Given the description of an element on the screen output the (x, y) to click on. 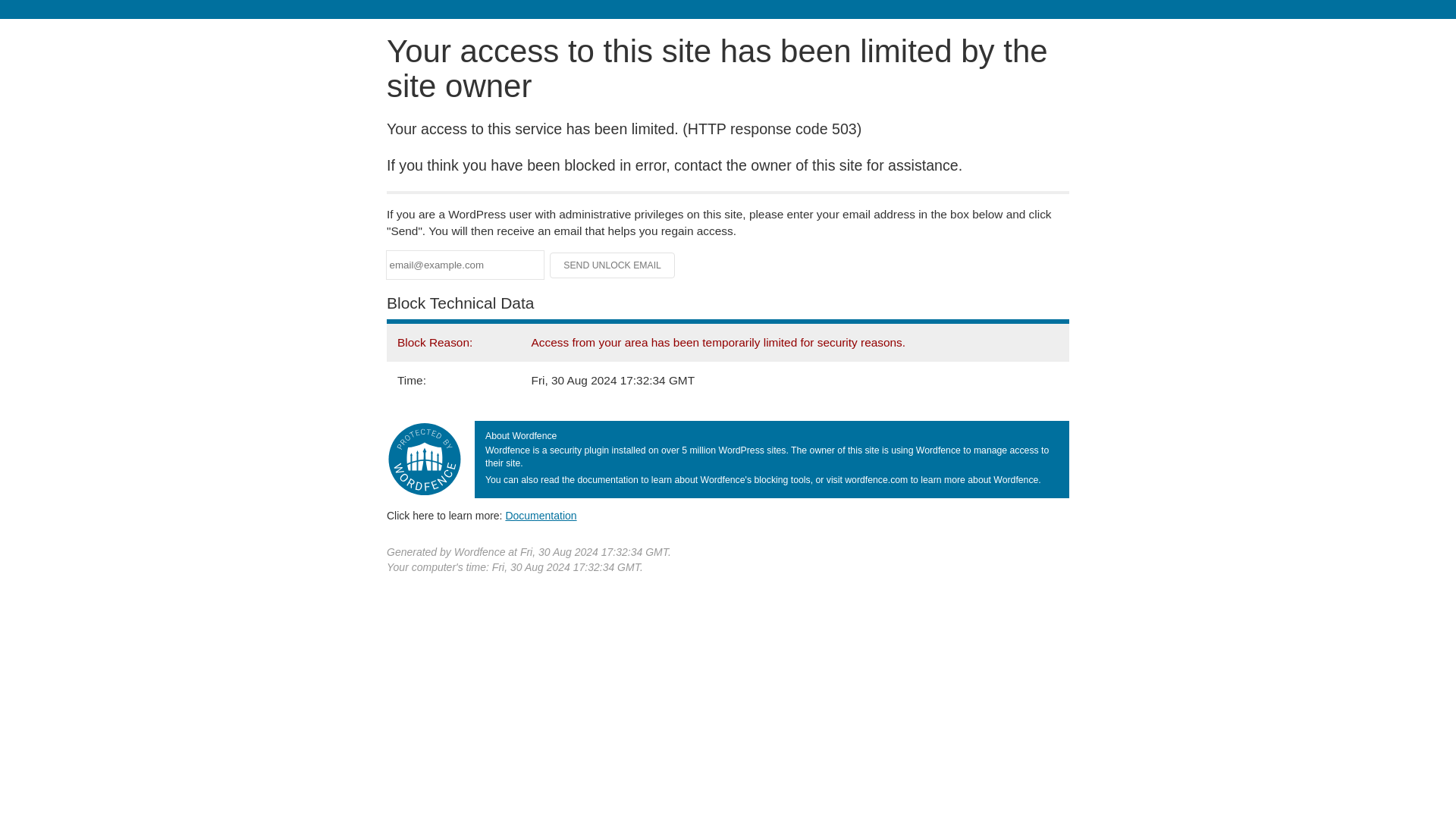
Send Unlock Email (612, 265)
Documentation (540, 515)
Send Unlock Email (612, 265)
